Given the description of an element on the screen output the (x, y) to click on. 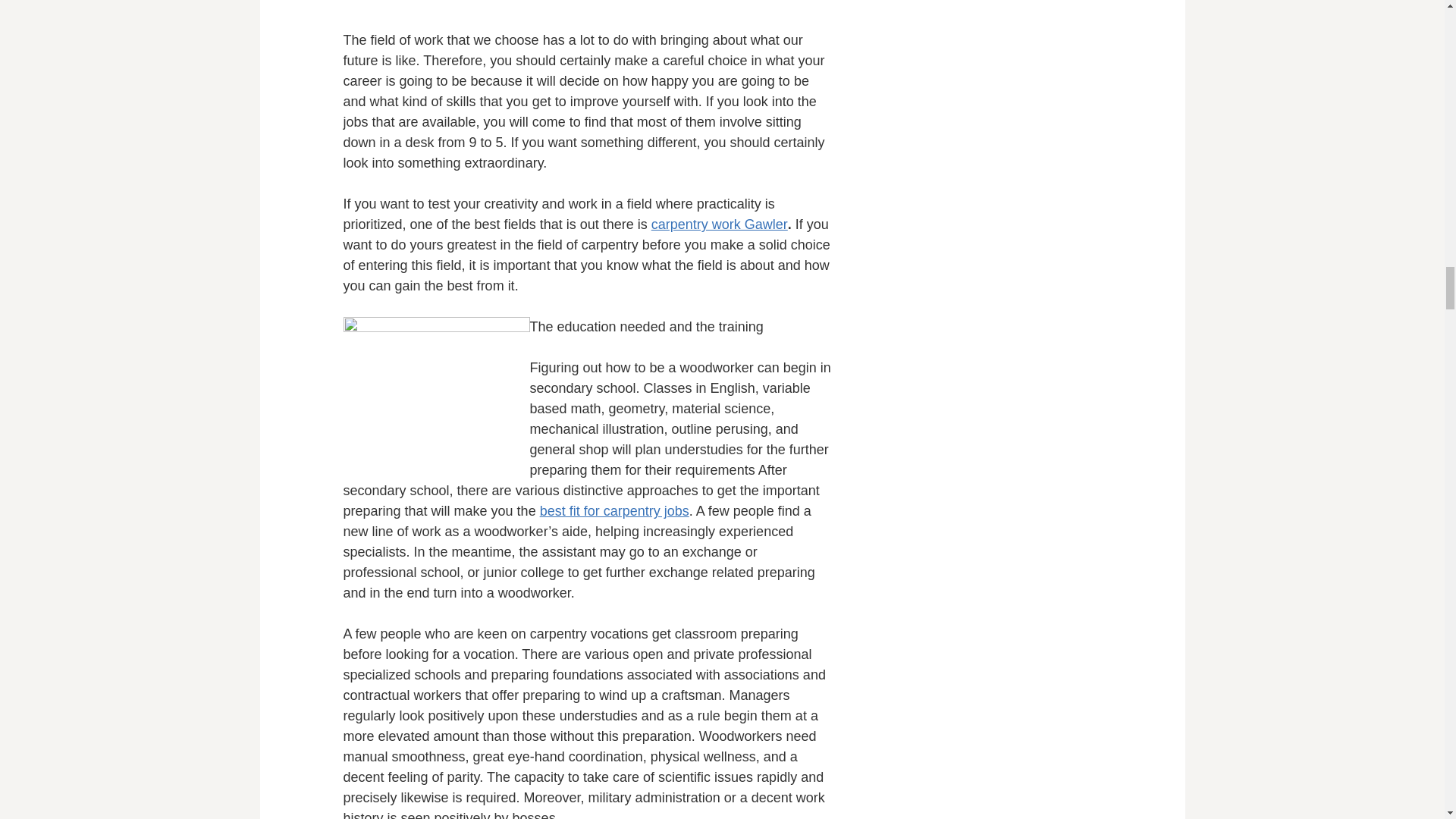
best fit for carpentry jobs (614, 510)
regionalcarpentry.jpg (435, 392)
carpentry work Gawler (718, 224)
